Given the description of an element on the screen output the (x, y) to click on. 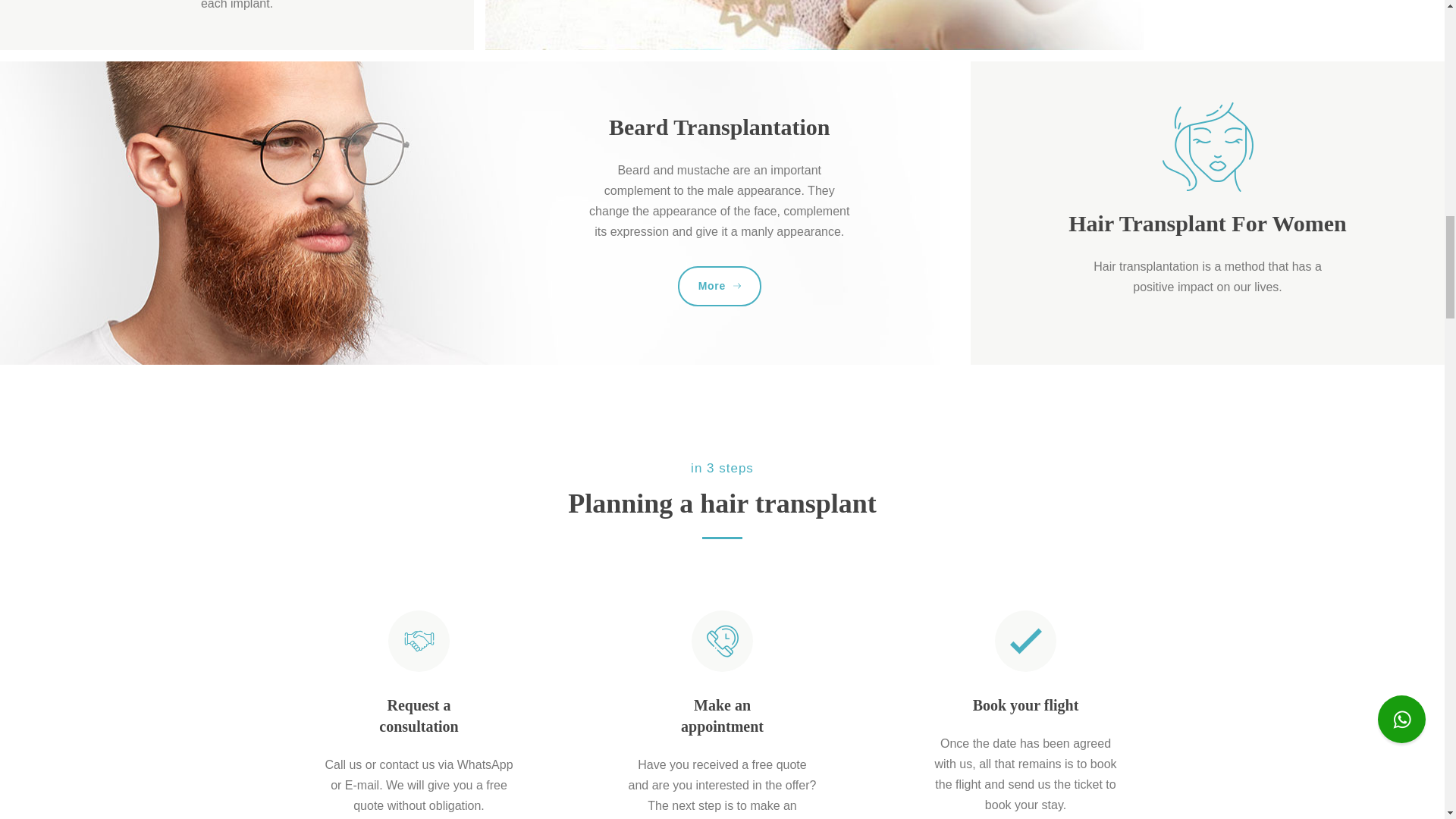
More (719, 286)
Beard Transplantation (718, 126)
Beard Transplantation (718, 126)
